Given the description of an element on the screen output the (x, y) to click on. 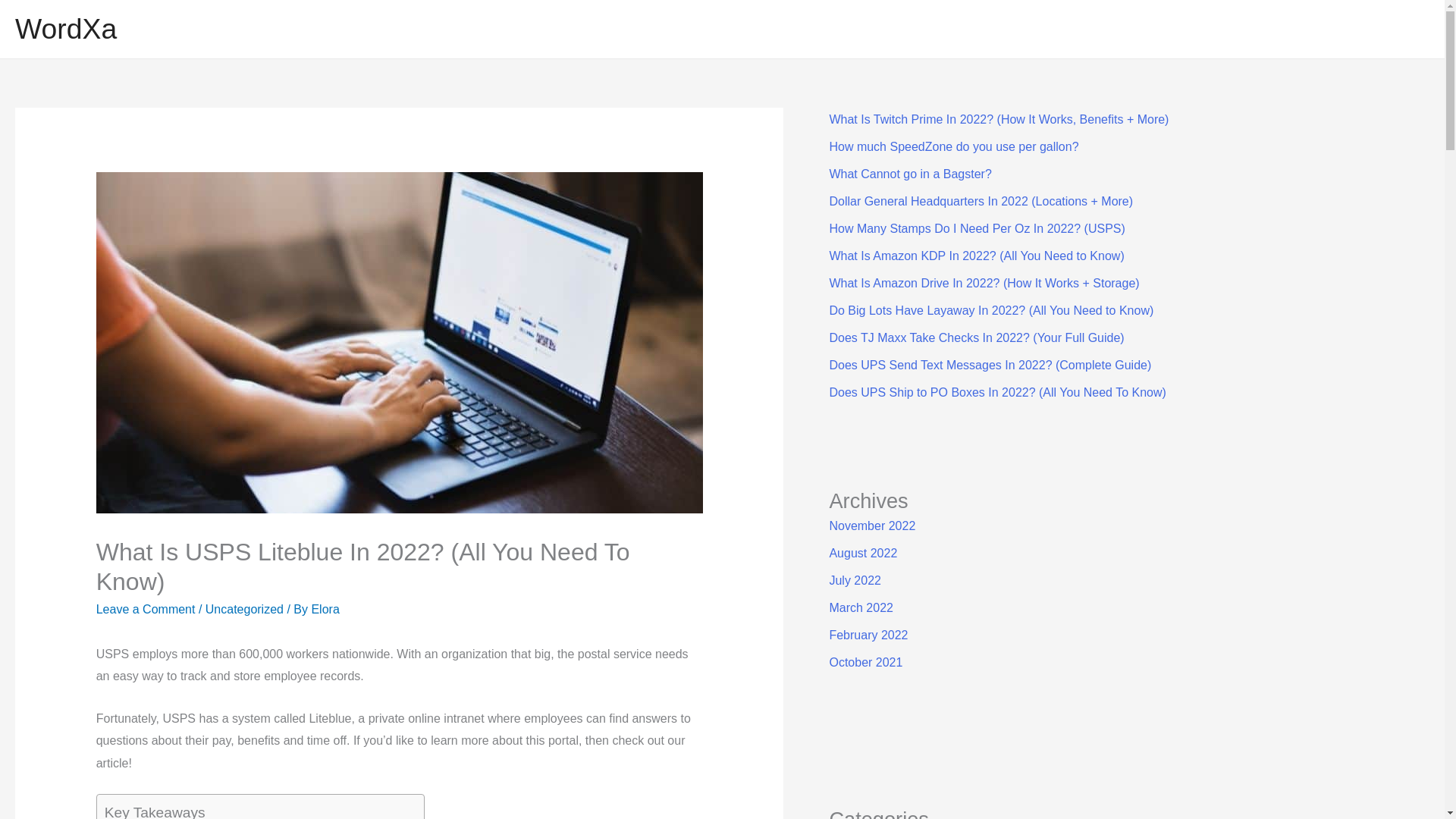
View all posts by Elora (325, 608)
Elora (325, 608)
How much SpeedZone do you use per gallon? (953, 146)
What Cannot go in a Bagster? (909, 173)
WordXa (65, 29)
Uncategorized (244, 608)
Leave a Comment (145, 608)
